Given the description of an element on the screen output the (x, y) to click on. 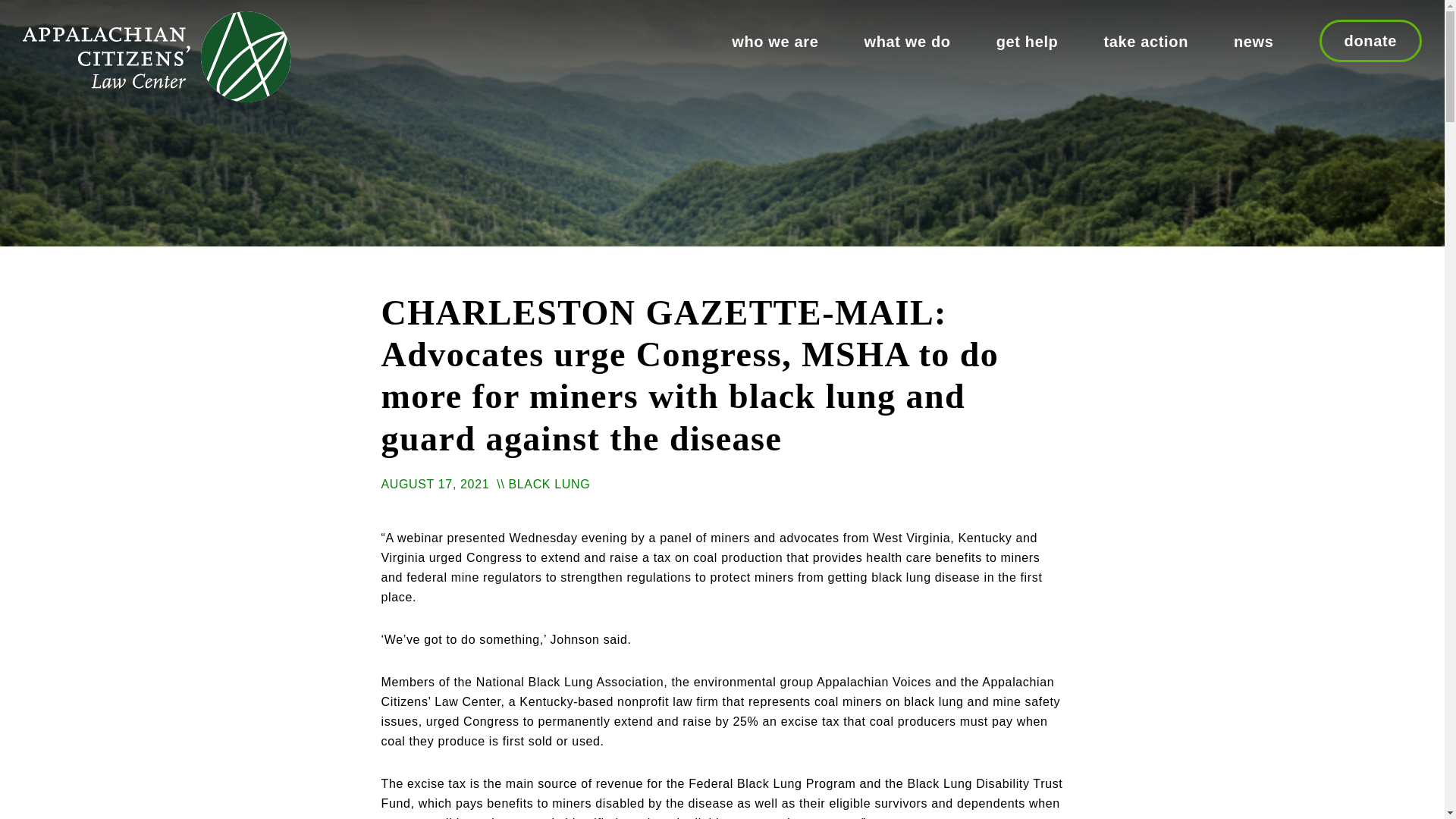
take action (1145, 35)
donate (1370, 40)
what we do (906, 35)
news (1254, 35)
get help (1027, 35)
who we are (775, 35)
BLACK LUNG (548, 483)
